Given the description of an element on the screen output the (x, y) to click on. 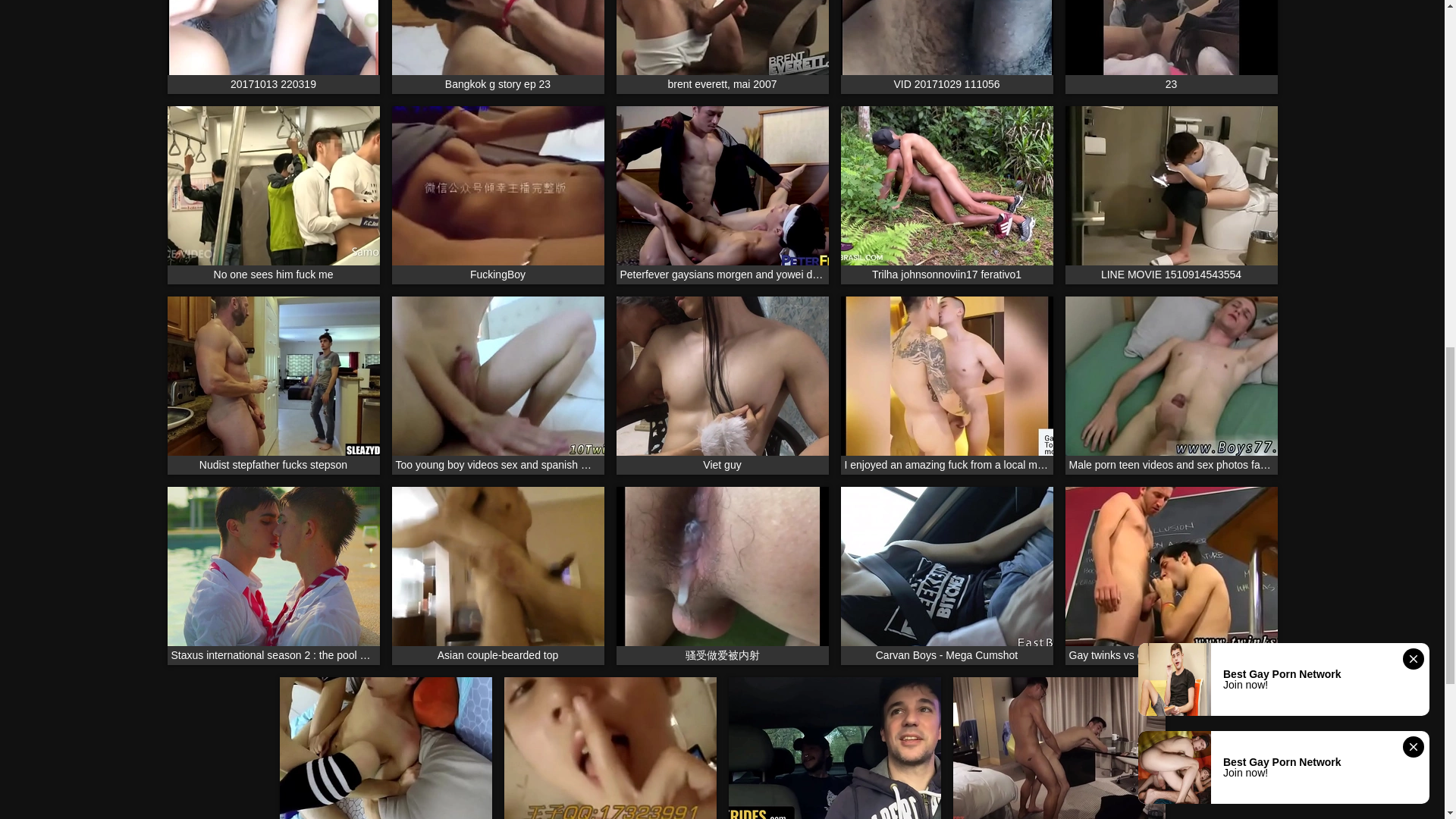
VID 20171029 111056 (946, 46)
Trilha johnsonnoviin17 ferativo1 (946, 195)
Bangkok g story ep 23 (497, 46)
No one sees him fuck me (272, 195)
Peterfever gaysians morgen and yowei drilled by hunk master (721, 195)
FuckingBoy (497, 195)
No one sees him fuck me (272, 195)
Bangkok g story ep 23 (497, 46)
23 (1170, 46)
LINE MOVIE 1510914543554 (1170, 195)
Viet guy (721, 384)
VID 20171029 111056 (946, 46)
FuckingBoy (497, 195)
Carvan Boys - Mega Cumshot (946, 575)
